Given the description of an element on the screen output the (x, y) to click on. 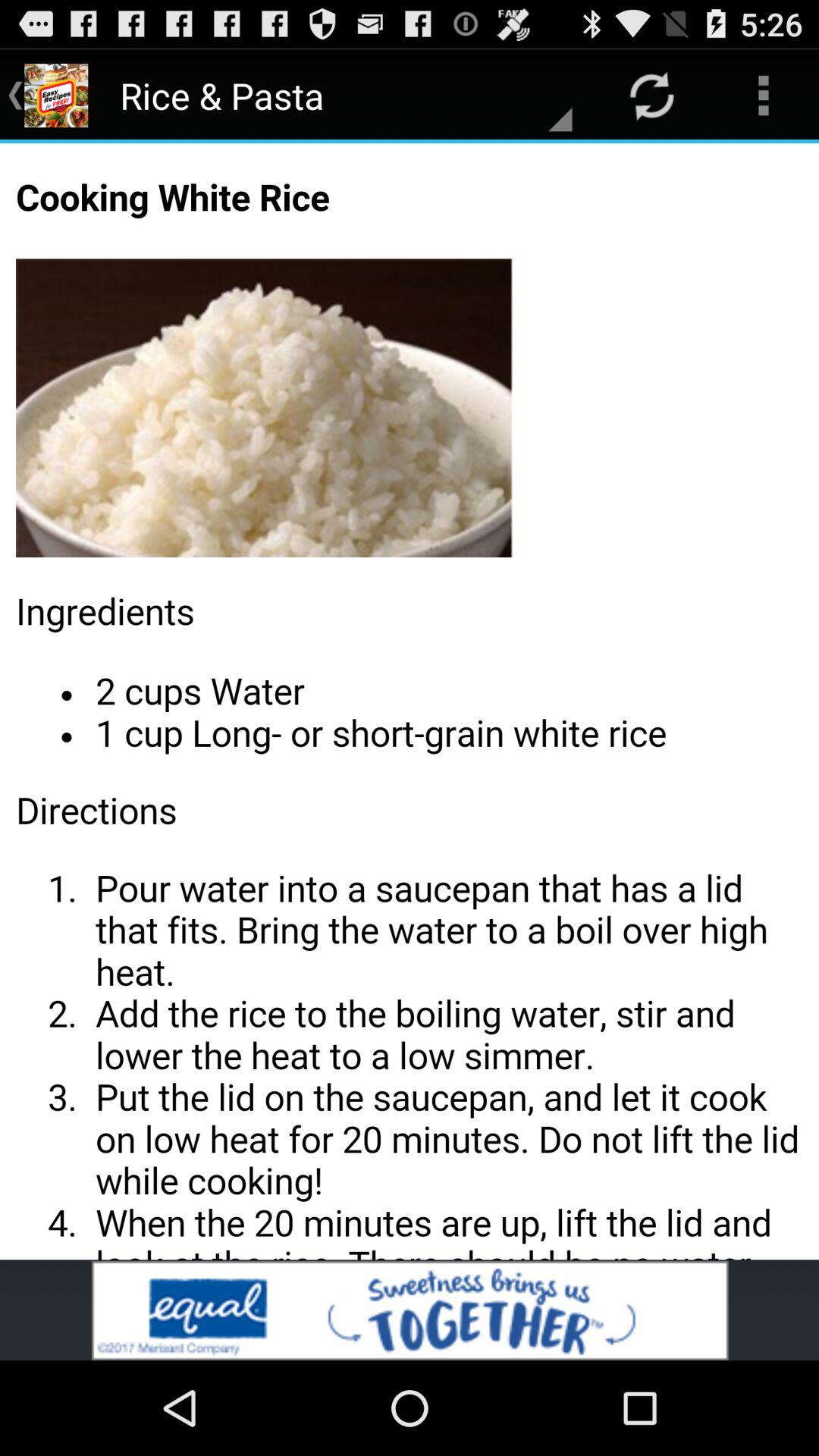
cooking white rice (409, 701)
